Given the description of an element on the screen output the (x, y) to click on. 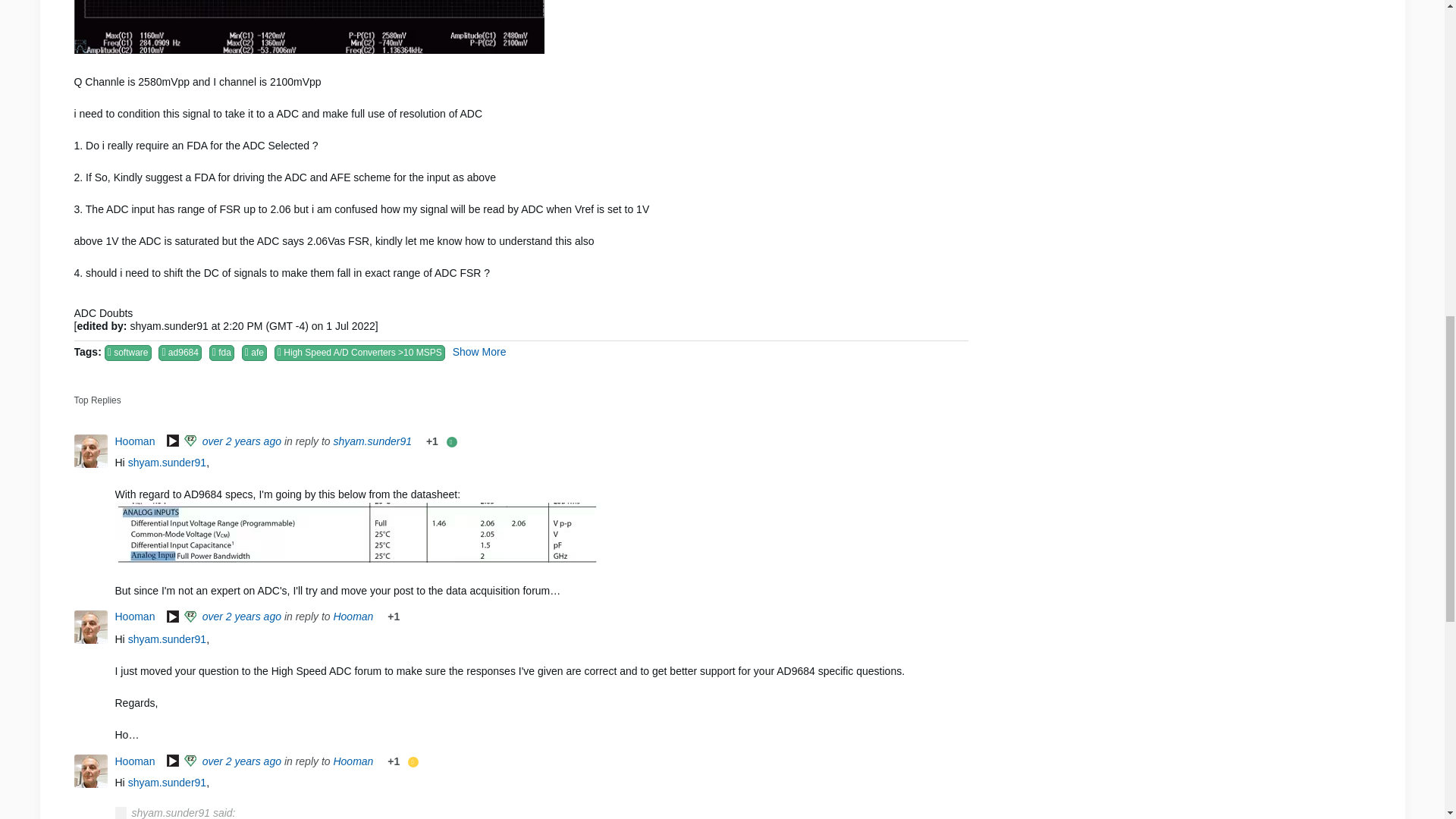
Super User (191, 617)
Super User (191, 441)
Analog Employees (172, 617)
Super User (191, 761)
Analog Employees (172, 761)
Analog Employees (172, 441)
